Given the description of an element on the screen output the (x, y) to click on. 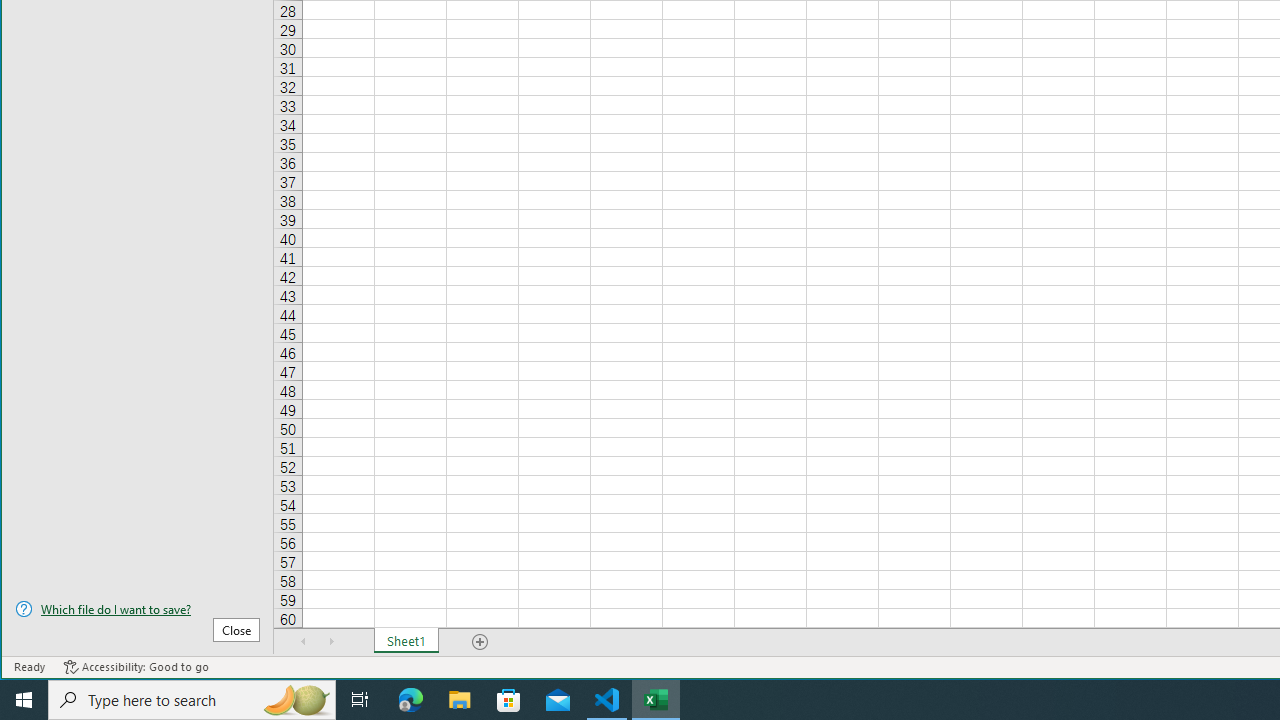
Excel - 1 running window (656, 699)
Start (24, 699)
Type here to search (191, 699)
Microsoft Store (509, 699)
File Explorer (460, 699)
Visual Studio Code - 1 running window (607, 699)
Task View (359, 699)
Microsoft Edge (411, 699)
